Given the description of an element on the screen output the (x, y) to click on. 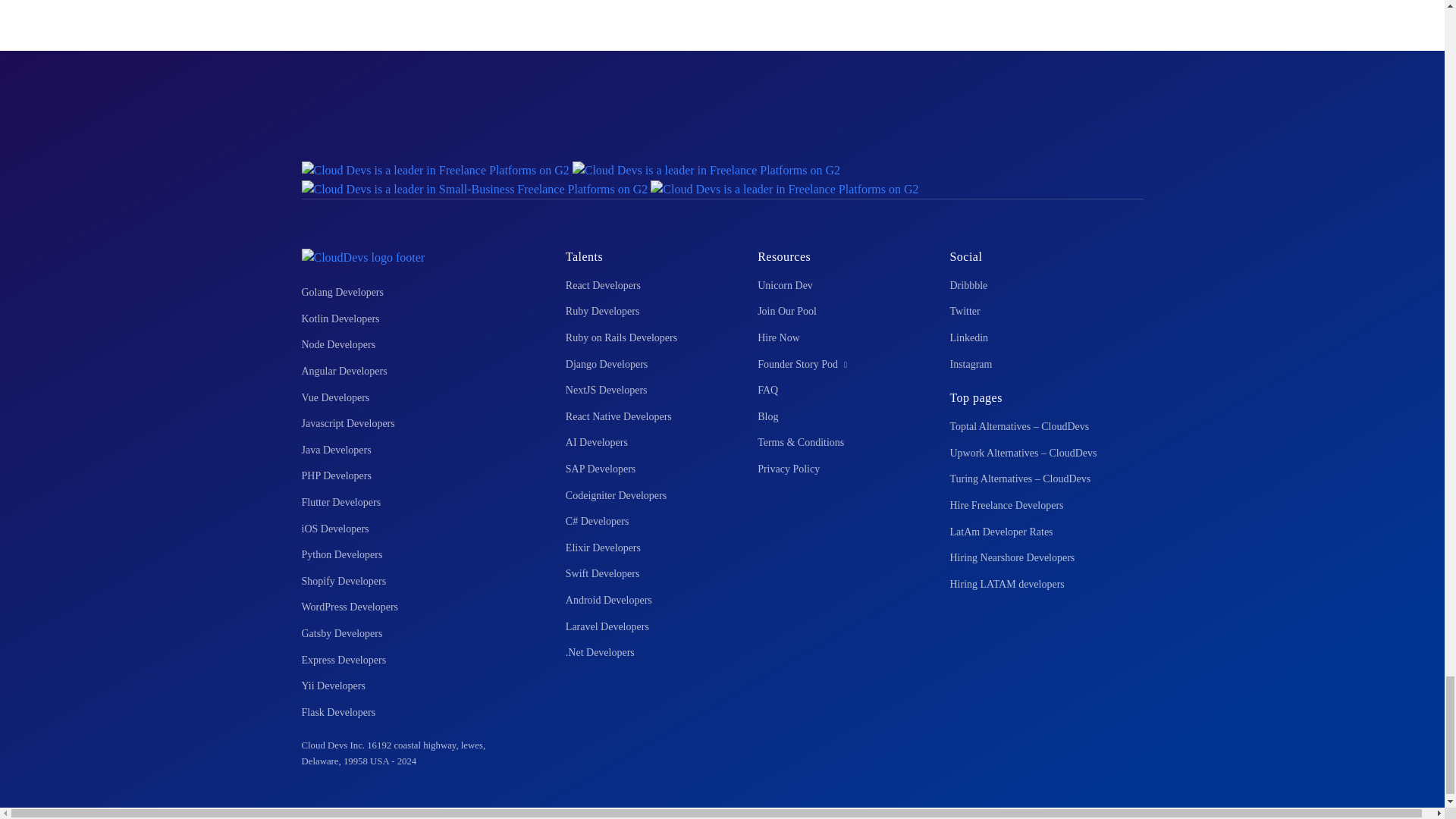
Cloud Devs is a leader in Freelance Platforms on G2 (784, 187)
Cloud Devs is a leader in Freelance Platforms on G2 (435, 168)
Cloud Devs is a leader in Freelance Platforms on G2 (706, 168)
